Given the description of an element on the screen output the (x, y) to click on. 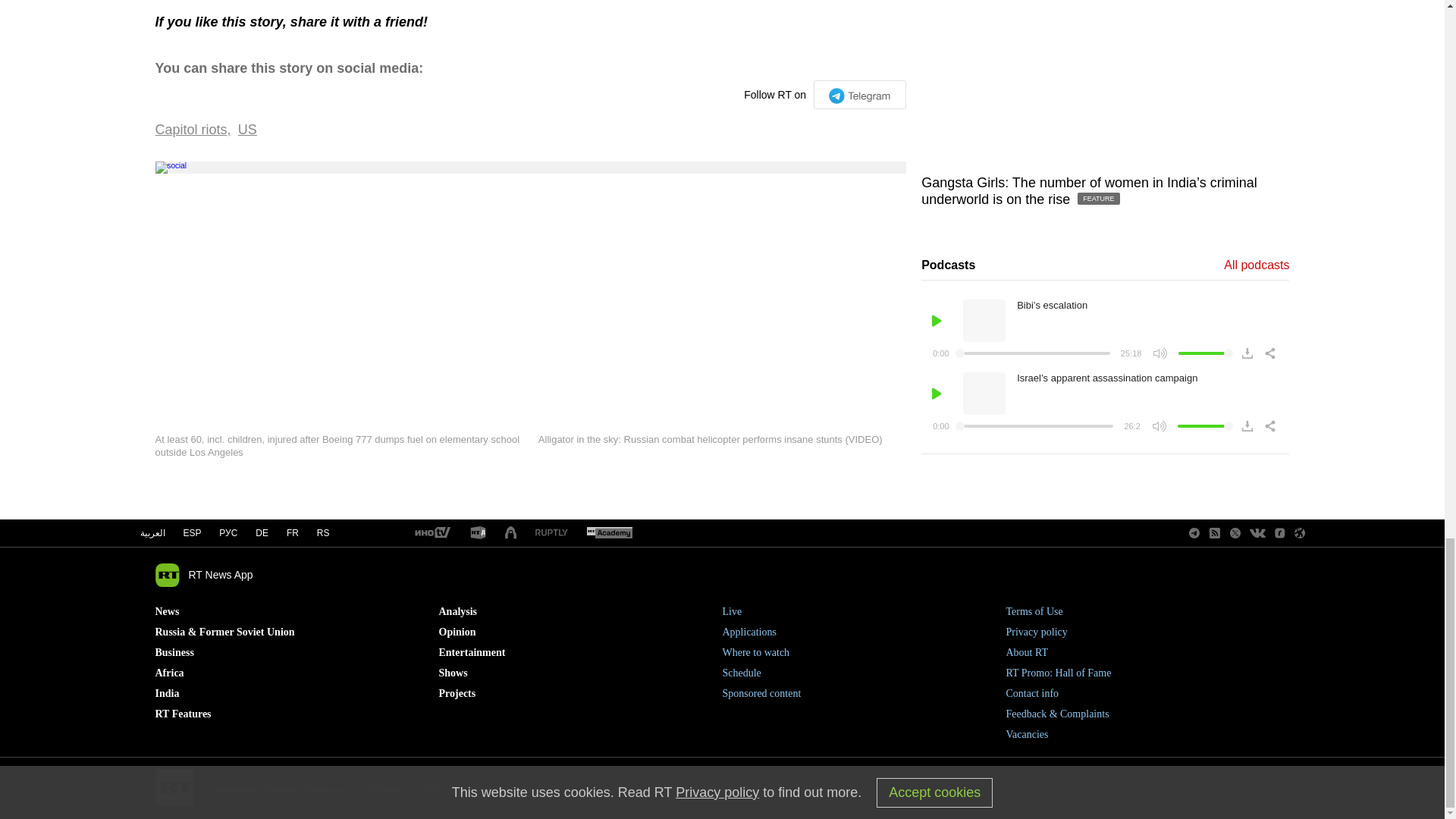
RT  (608, 533)
RT  (431, 533)
RT  (551, 533)
RT  (478, 533)
